Given the description of an element on the screen output the (x, y) to click on. 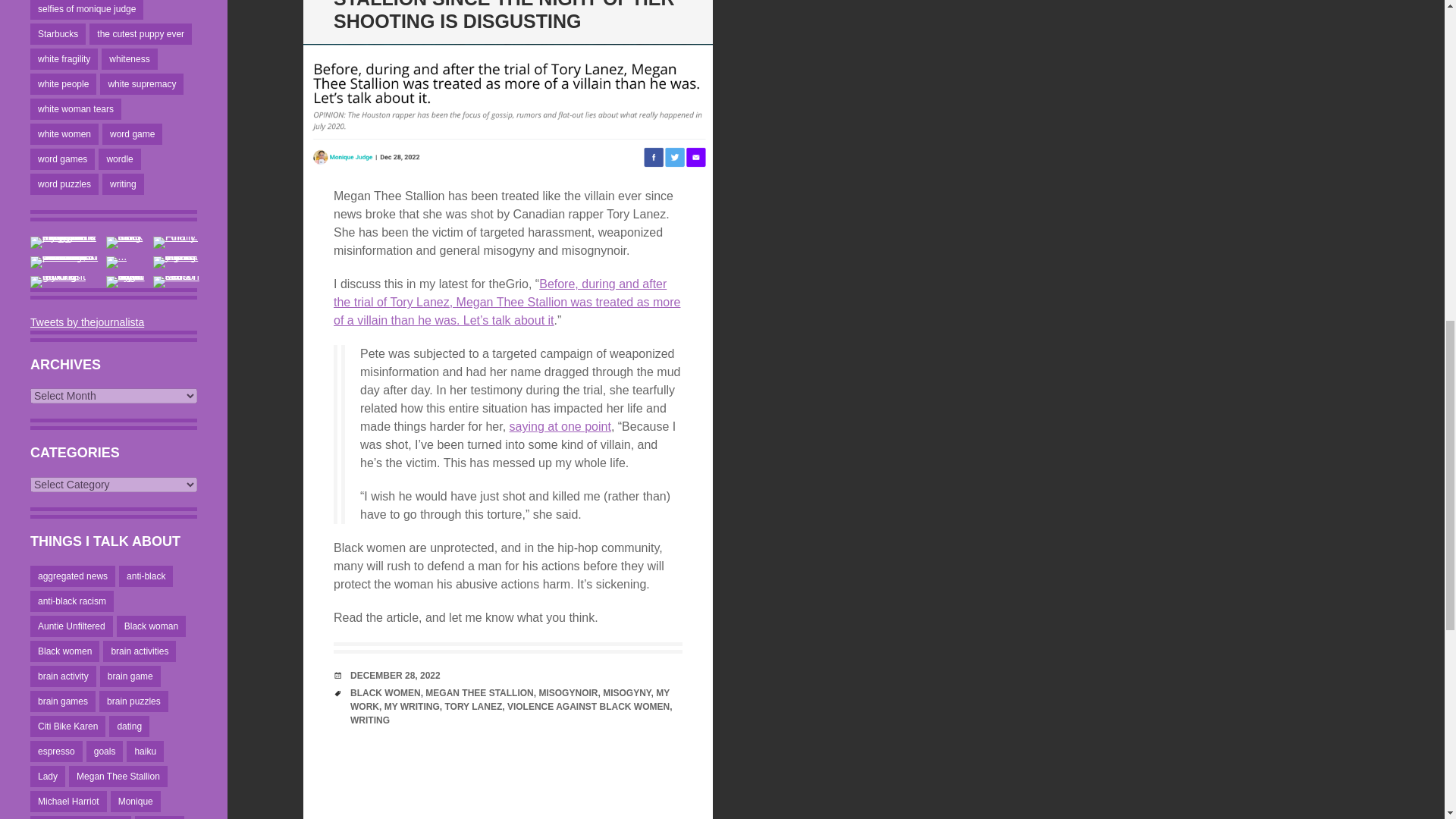
Starbucks (57, 34)
5:14 pm (395, 675)
selfies of monique judge (86, 9)
